Given the description of an element on the screen output the (x, y) to click on. 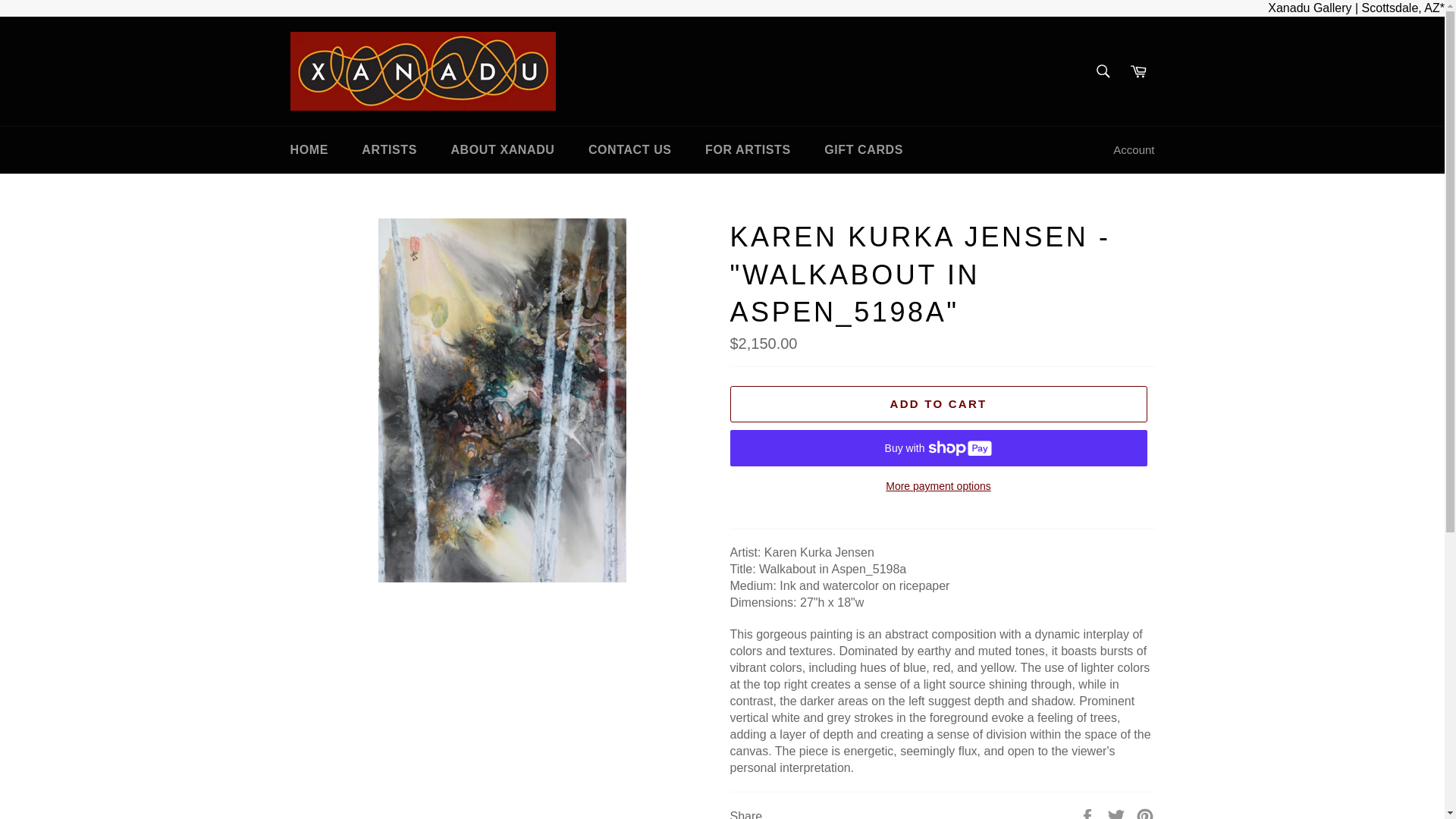
ABOUT XANADU (502, 149)
GIFT CARDS (863, 149)
FOR ARTISTS (748, 149)
Account (1133, 150)
Tweet on Twitter (1117, 814)
Cart (1138, 70)
Share on Facebook (1088, 814)
HOME (308, 149)
ADD TO CART (938, 403)
More payment options (938, 486)
Tweet on Twitter (1117, 814)
Pin on Pinterest (1144, 814)
Search (1101, 70)
Share on Facebook (1088, 814)
ARTISTS (389, 149)
